Given the description of an element on the screen output the (x, y) to click on. 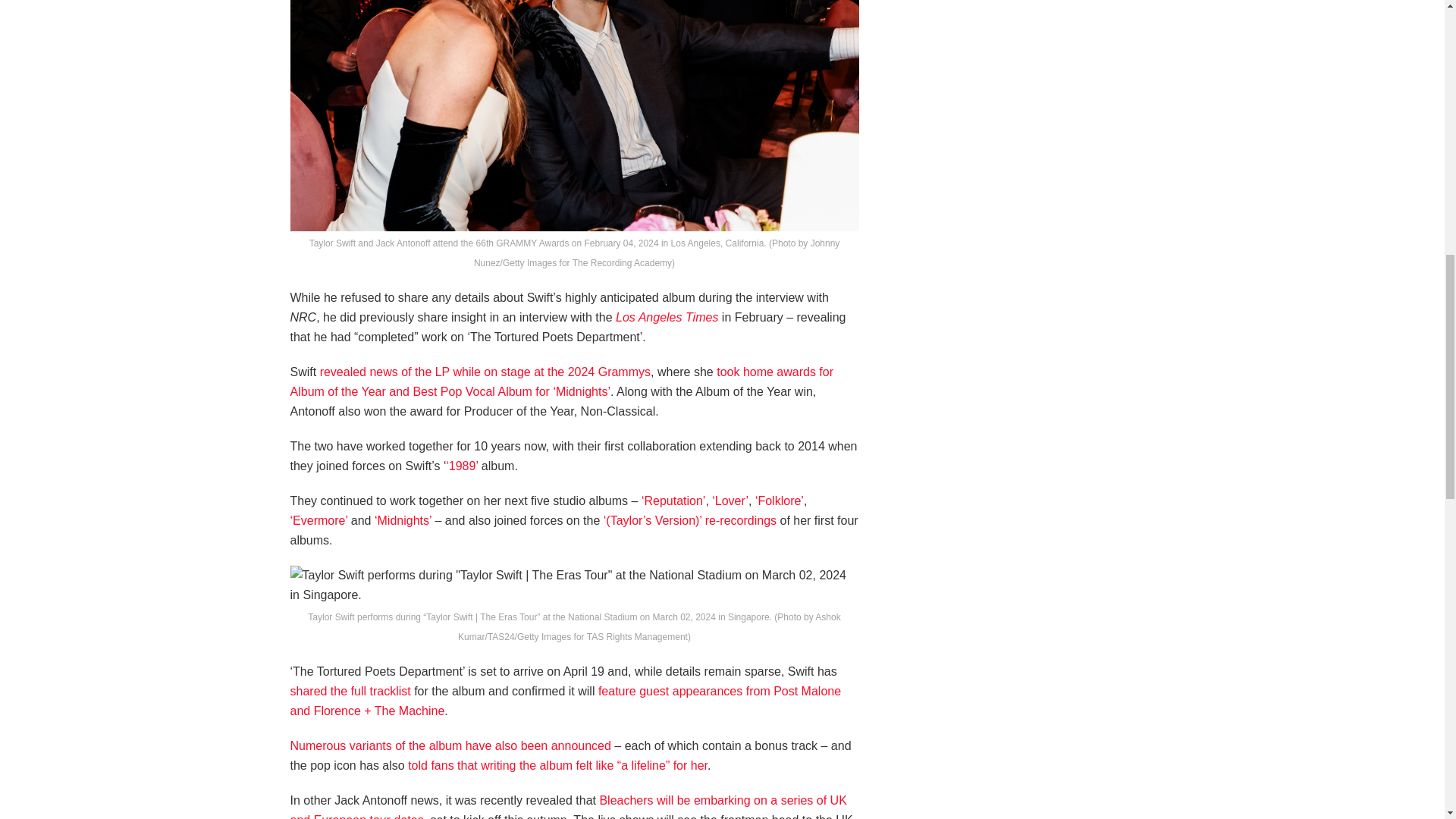
Los Angeles Times (668, 317)
revealed news of the LP while on stage at the 2024 Grammys (485, 371)
